Given the description of an element on the screen output the (x, y) to click on. 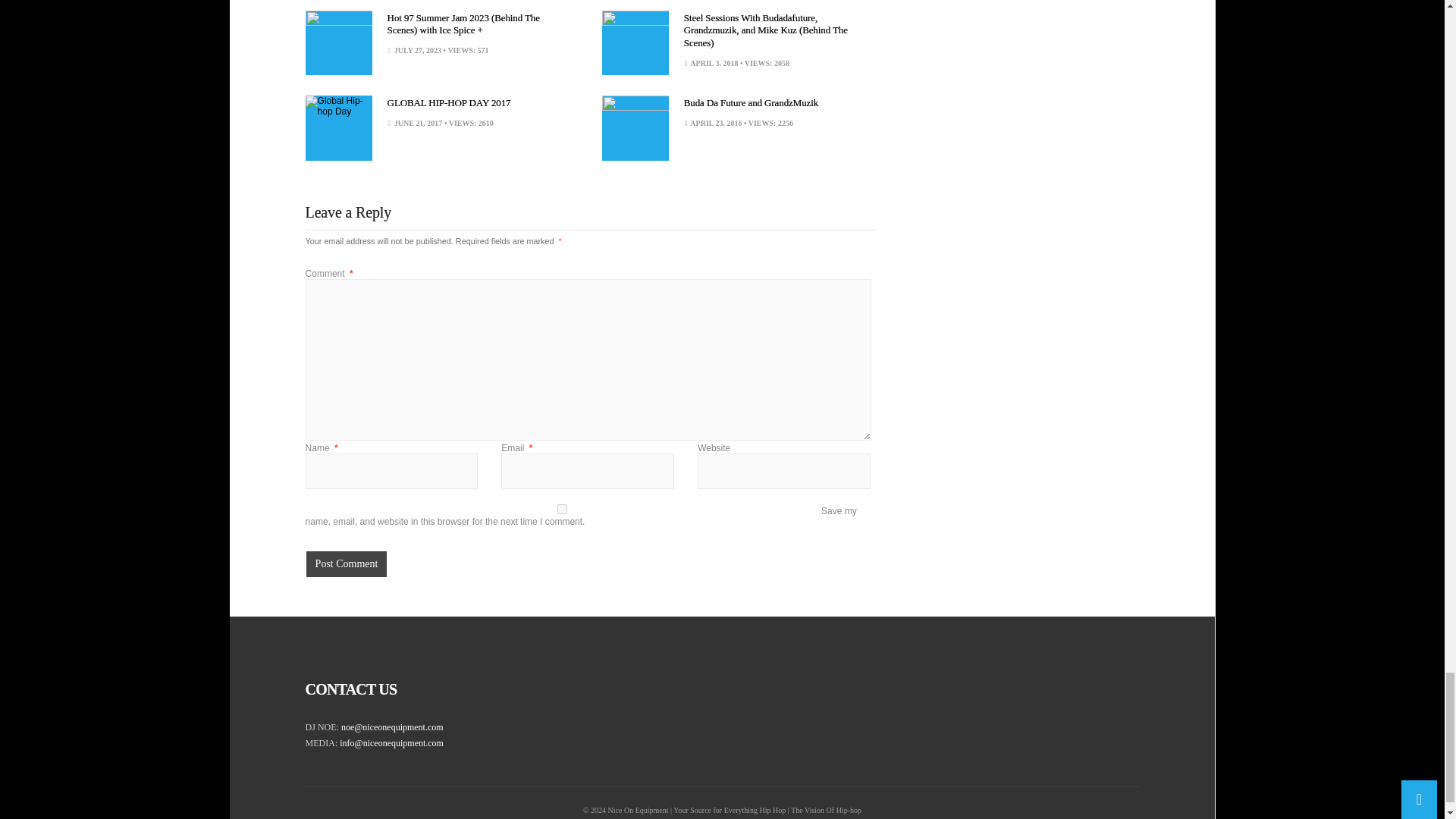
yes (561, 509)
Post Comment (346, 564)
